Given the description of an element on the screen output the (x, y) to click on. 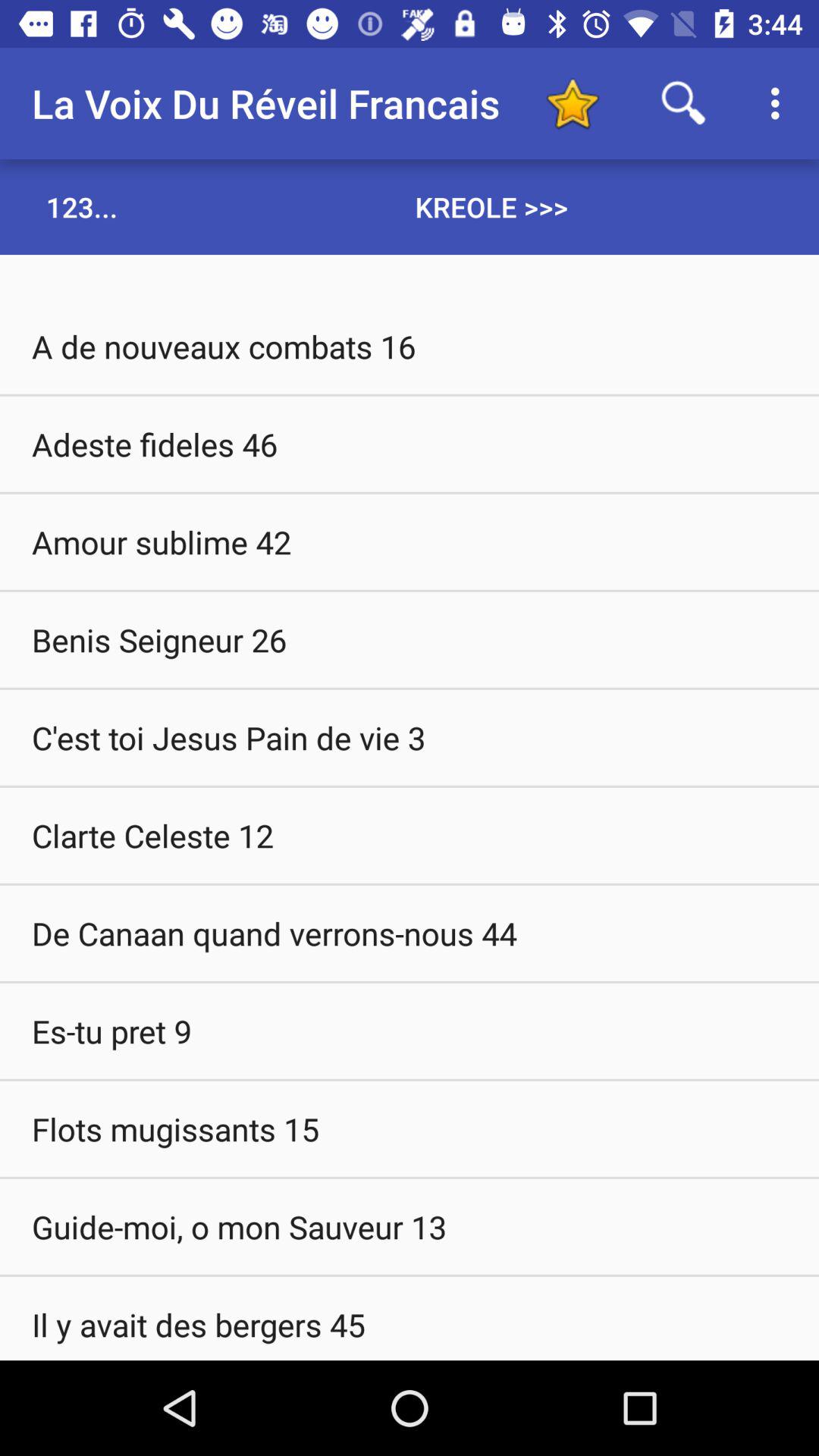
magnify or search (683, 103)
